Given the description of an element on the screen output the (x, y) to click on. 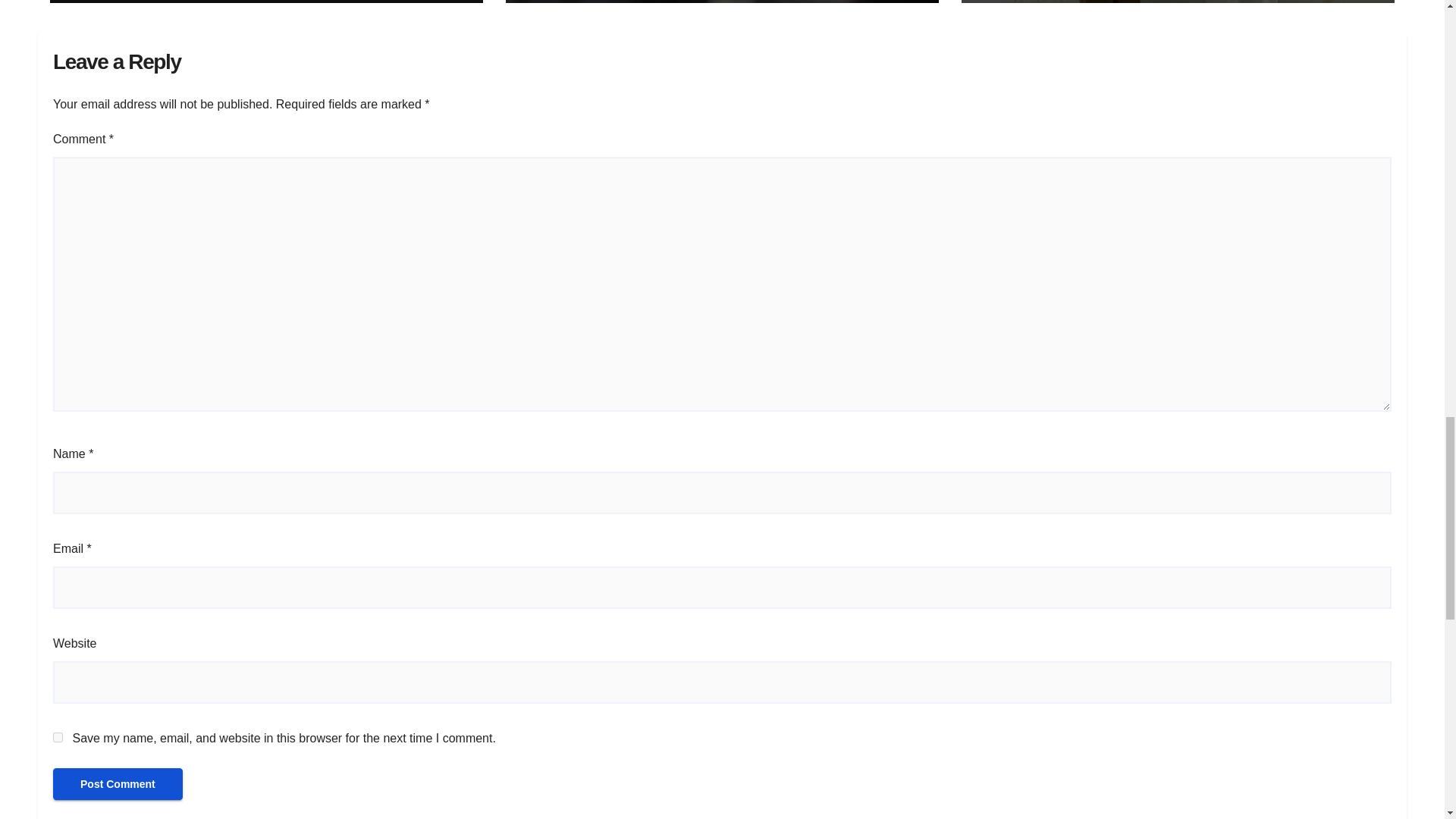
Post Comment (117, 784)
yes (57, 737)
Post Comment (117, 784)
